Given the description of an element on the screen output the (x, y) to click on. 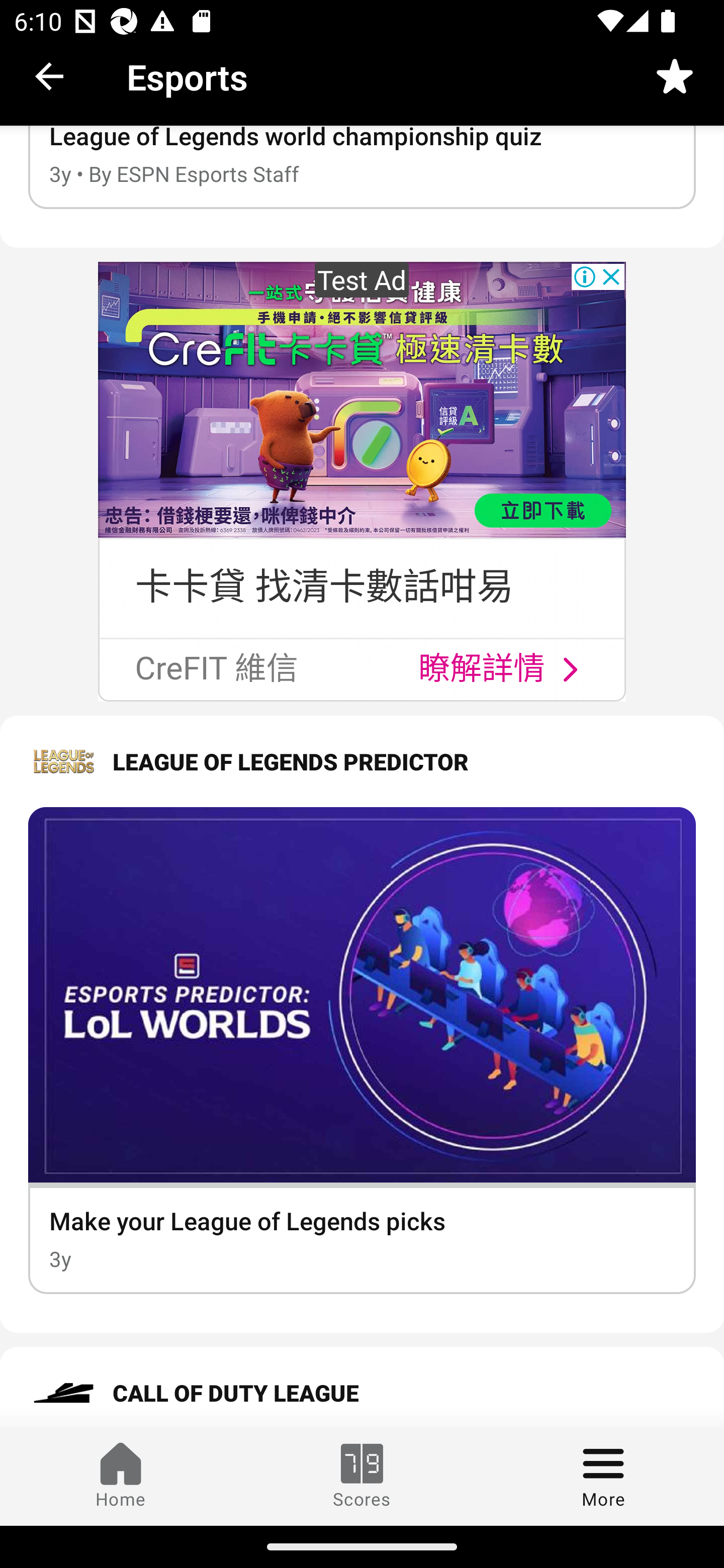
back.button (49, 80)
Favorite toggle (674, 80)
details%3Fid%3Dcom.vhk (361, 399)
卡卡貸 找清卡數話咁易 (323, 586)
details%3Fid%3Dcom.vhk (569, 668)
CreFIT 維信 (215, 669)
瞭解詳情 (482, 669)
Make your League of Legends picks 3y (361, 1050)
CALL OF DUTY LEAGUE (362, 1386)
Home (120, 1475)
Scores (361, 1475)
